Given the description of an element on the screen output the (x, y) to click on. 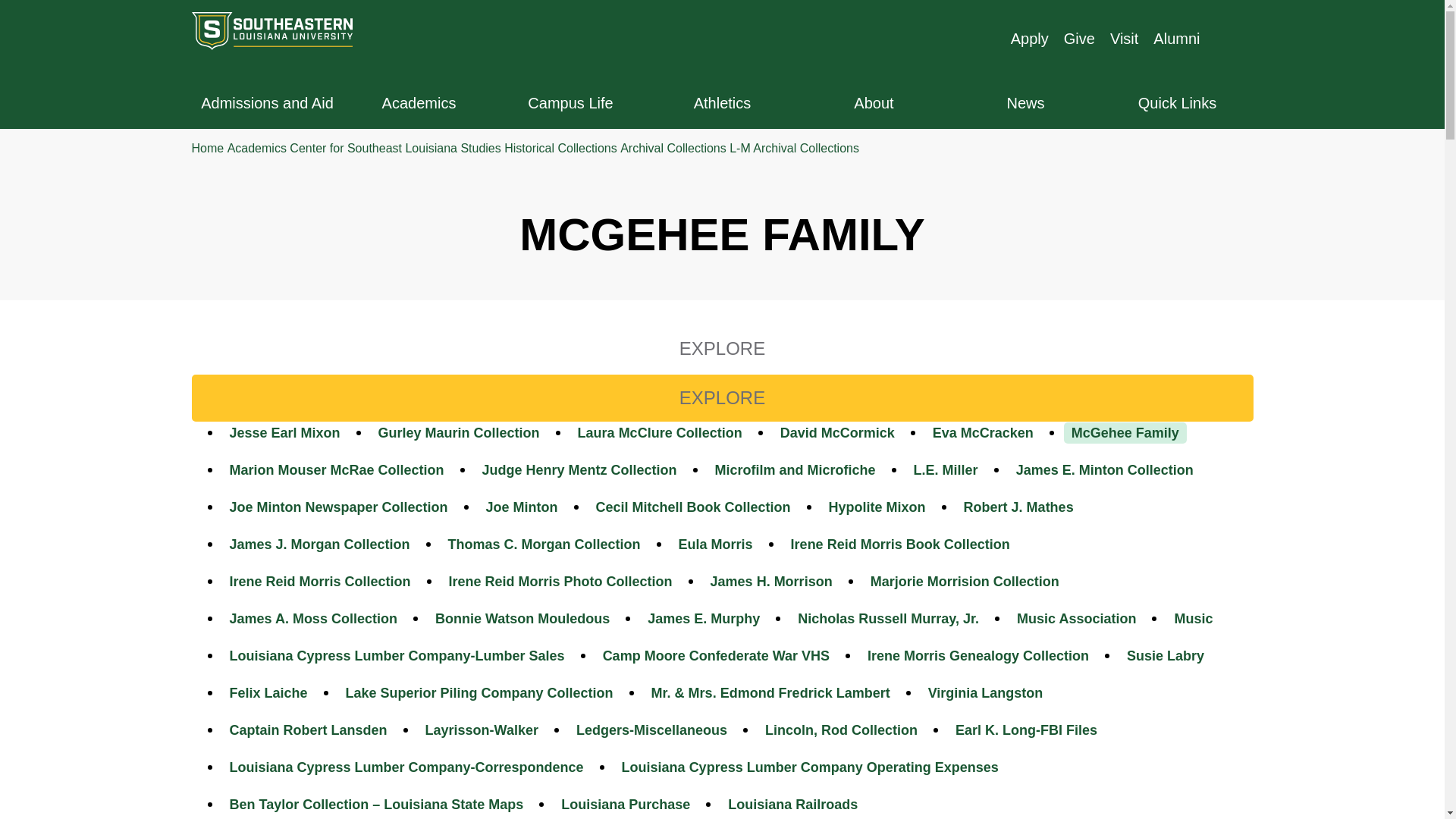
Apply (1032, 36)
Campus Life (570, 102)
Alumni (1176, 38)
Admissions and Aid (266, 102)
Visit (1124, 38)
Academics (418, 102)
Give (1080, 37)
